Given the description of an element on the screen output the (x, y) to click on. 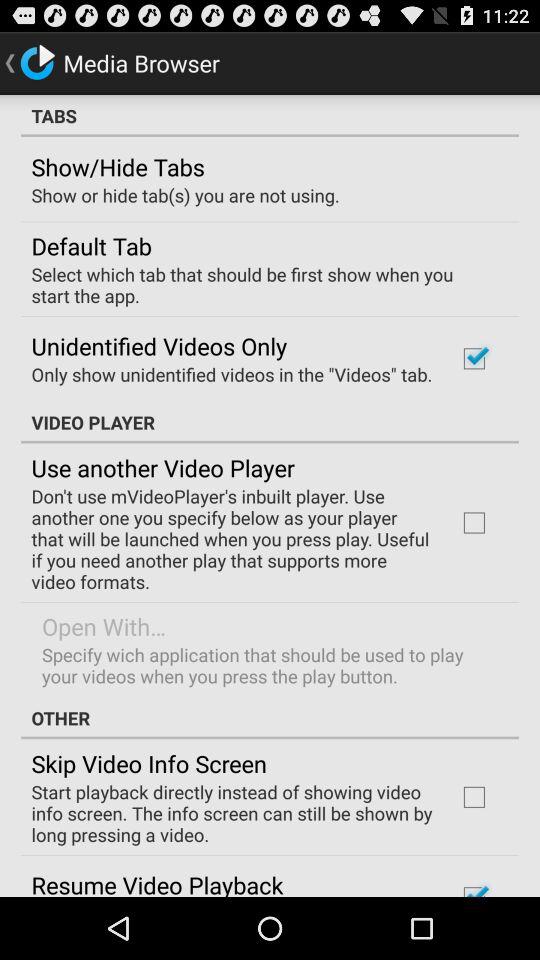
swipe until the don t use icon (231, 538)
